Given the description of an element on the screen output the (x, y) to click on. 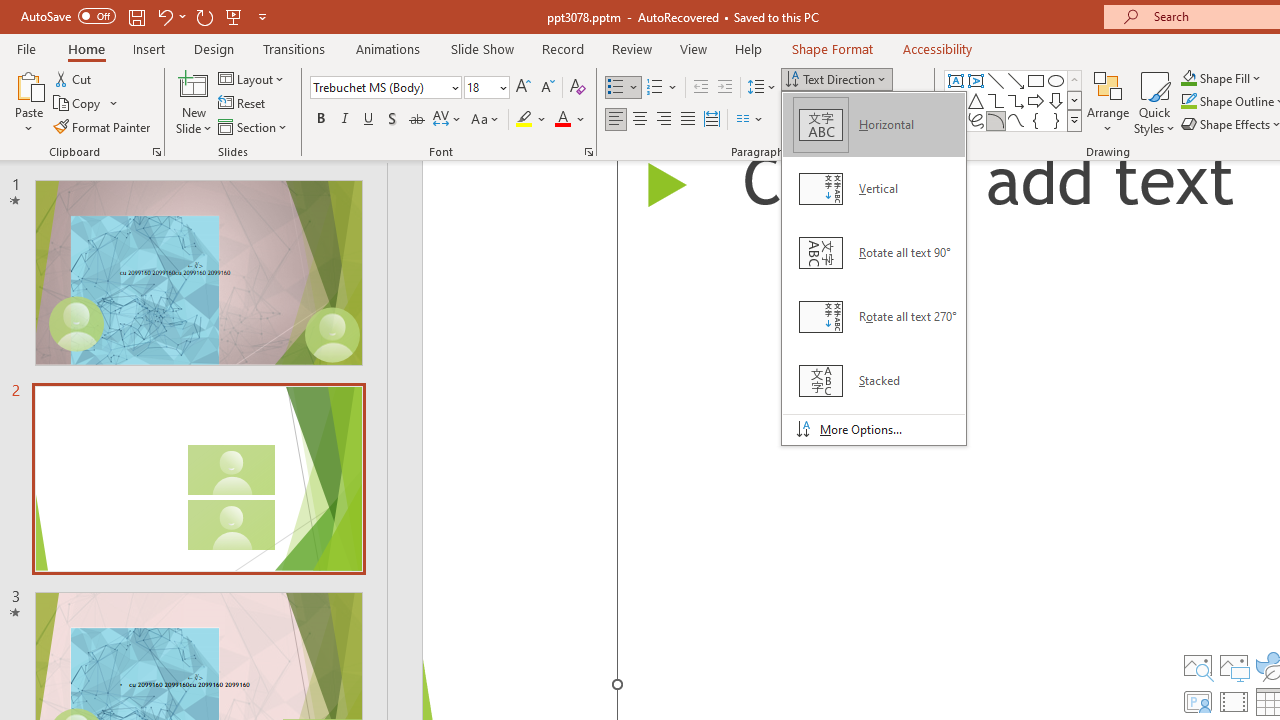
Insert Cameo (1197, 701)
Pictures (1234, 665)
